Given the description of an element on the screen output the (x, y) to click on. 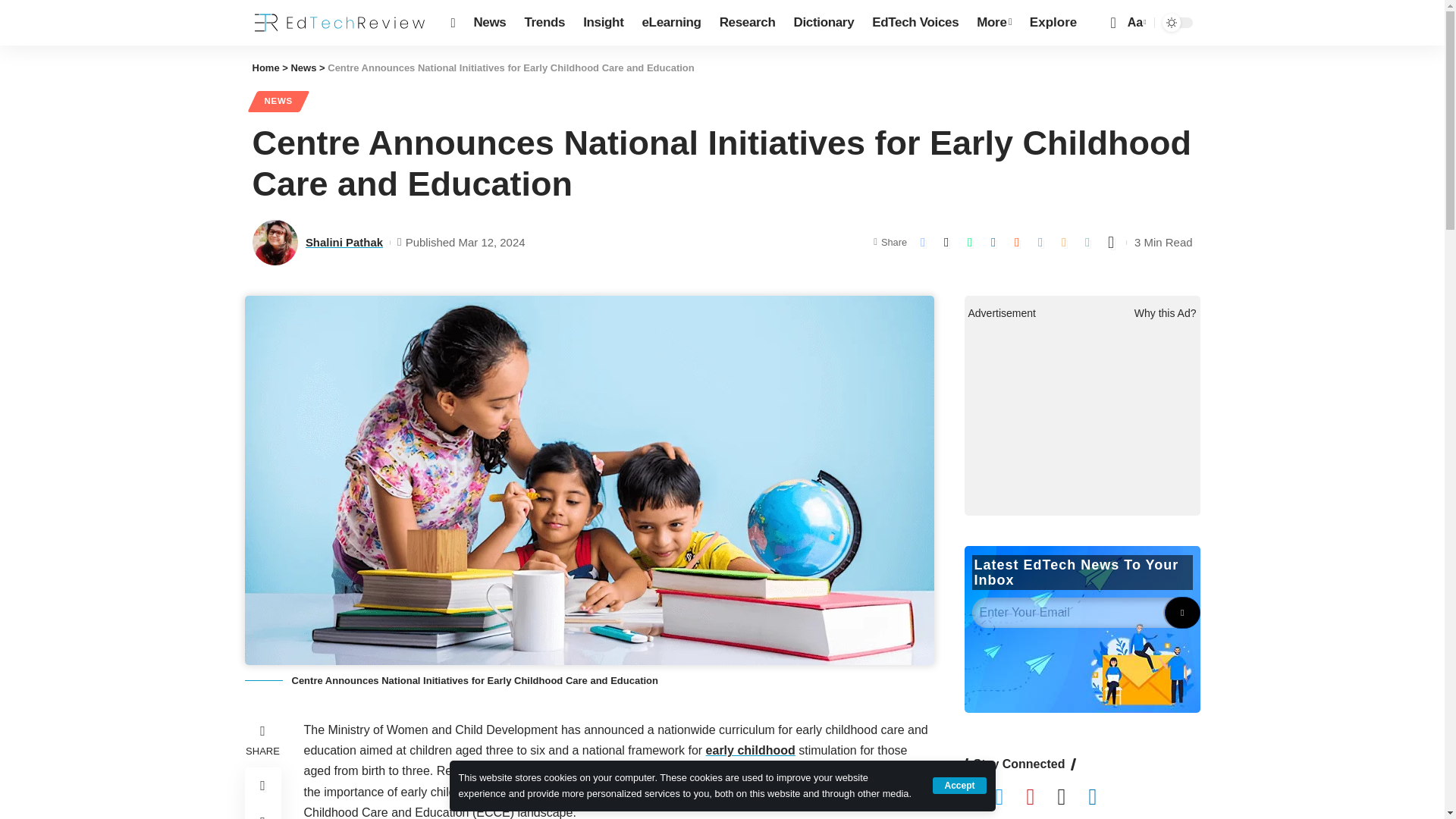
Follow EdTechReview on Facebook (979, 797)
Follow EdTechReview on YouTube (1041, 797)
Research (747, 22)
Explore (1053, 22)
News (489, 22)
Follow EdTechReview on Twitter (1010, 797)
Accept (959, 785)
EdTechReview (338, 22)
Insight (602, 22)
